Given the description of an element on the screen output the (x, y) to click on. 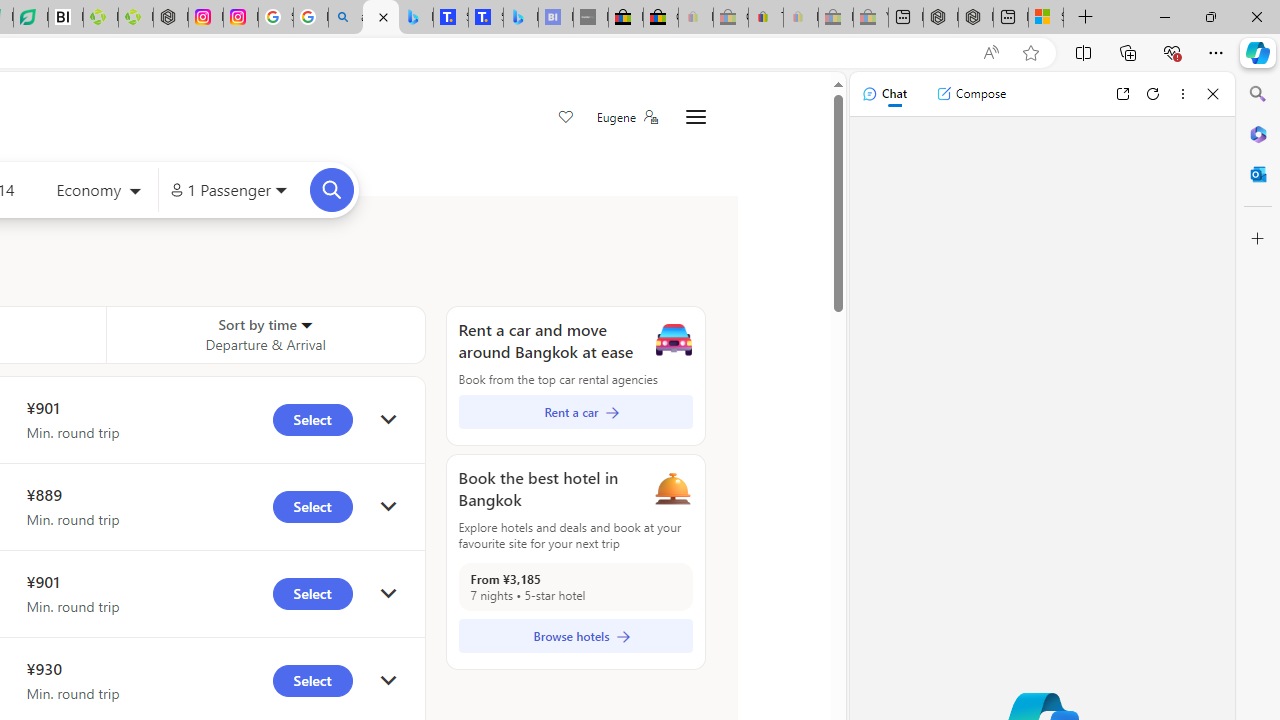
Chat (884, 93)
Save (565, 118)
Eugene (626, 117)
LendingTree - Compare Lenders (31, 17)
Browse hotels (575, 636)
Microsoft Bing Travel - Shangri-La Hotel Bangkok (520, 17)
